Given the description of an element on the screen output the (x, y) to click on. 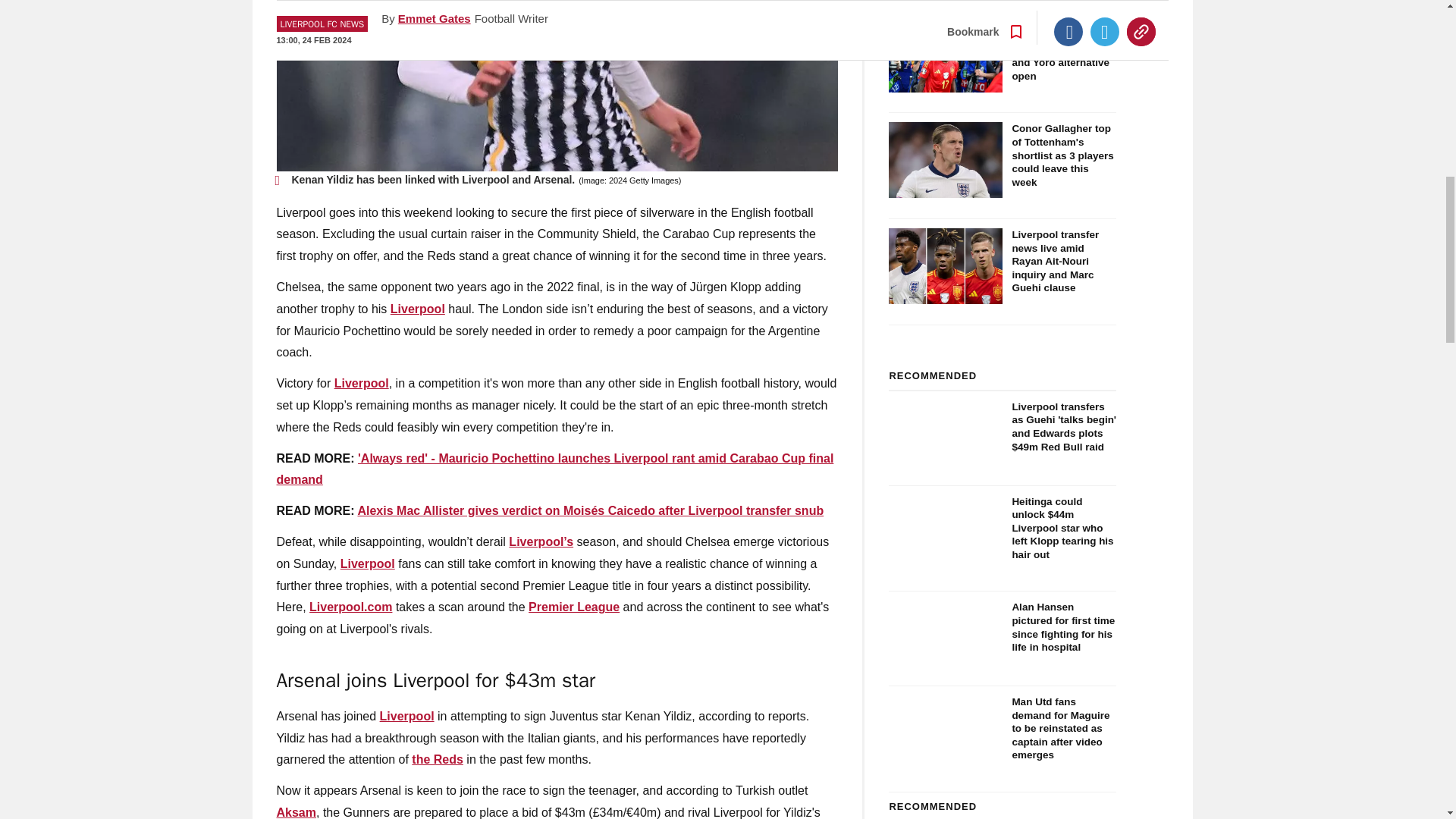
Liverpool (406, 716)
the Reds (437, 758)
Liverpool.com (349, 606)
Liverpool (417, 308)
Premier League (574, 606)
Liverpool (367, 563)
Liverpool (361, 382)
